Given the description of an element on the screen output the (x, y) to click on. 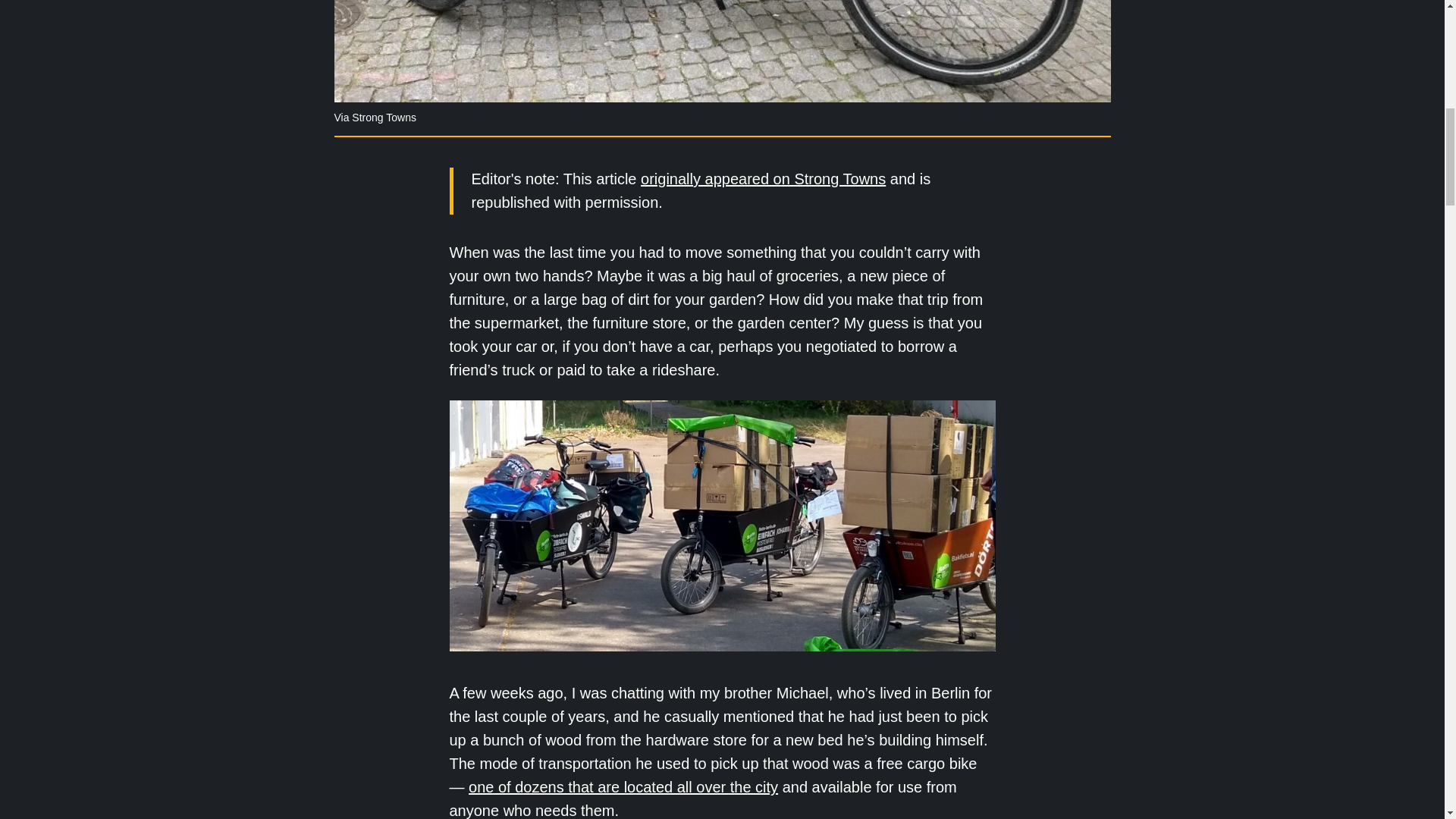
one of dozens that are located all over the city (622, 786)
originally appeared on Strong Towns (762, 178)
